Given the description of an element on the screen output the (x, y) to click on. 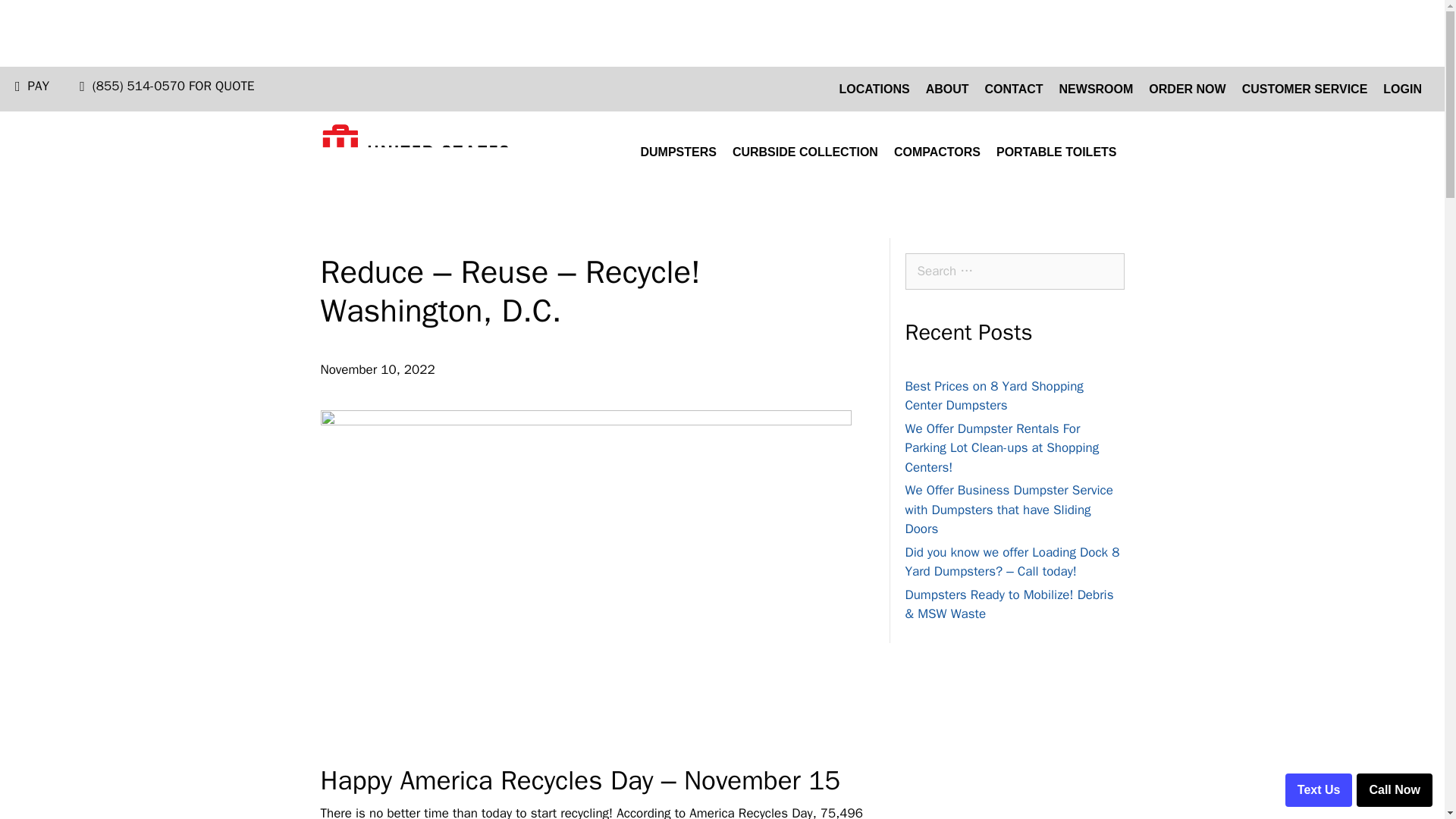
USDS-logo-horizontal (414, 151)
CUSTOMER SERVICE (1304, 89)
Search for: (1014, 271)
CURBSIDE COLLECTION (805, 152)
ORDER NOW (1187, 89)
DUMPSTERS (677, 152)
ABOUT (947, 89)
CONTACT (1013, 89)
PAY (38, 86)
NEWSROOM (1096, 89)
LOCATIONS (874, 89)
Search (40, 17)
COMPACTORS (937, 152)
PORTABLE TOILETS (1056, 152)
